Given the description of an element on the screen output the (x, y) to click on. 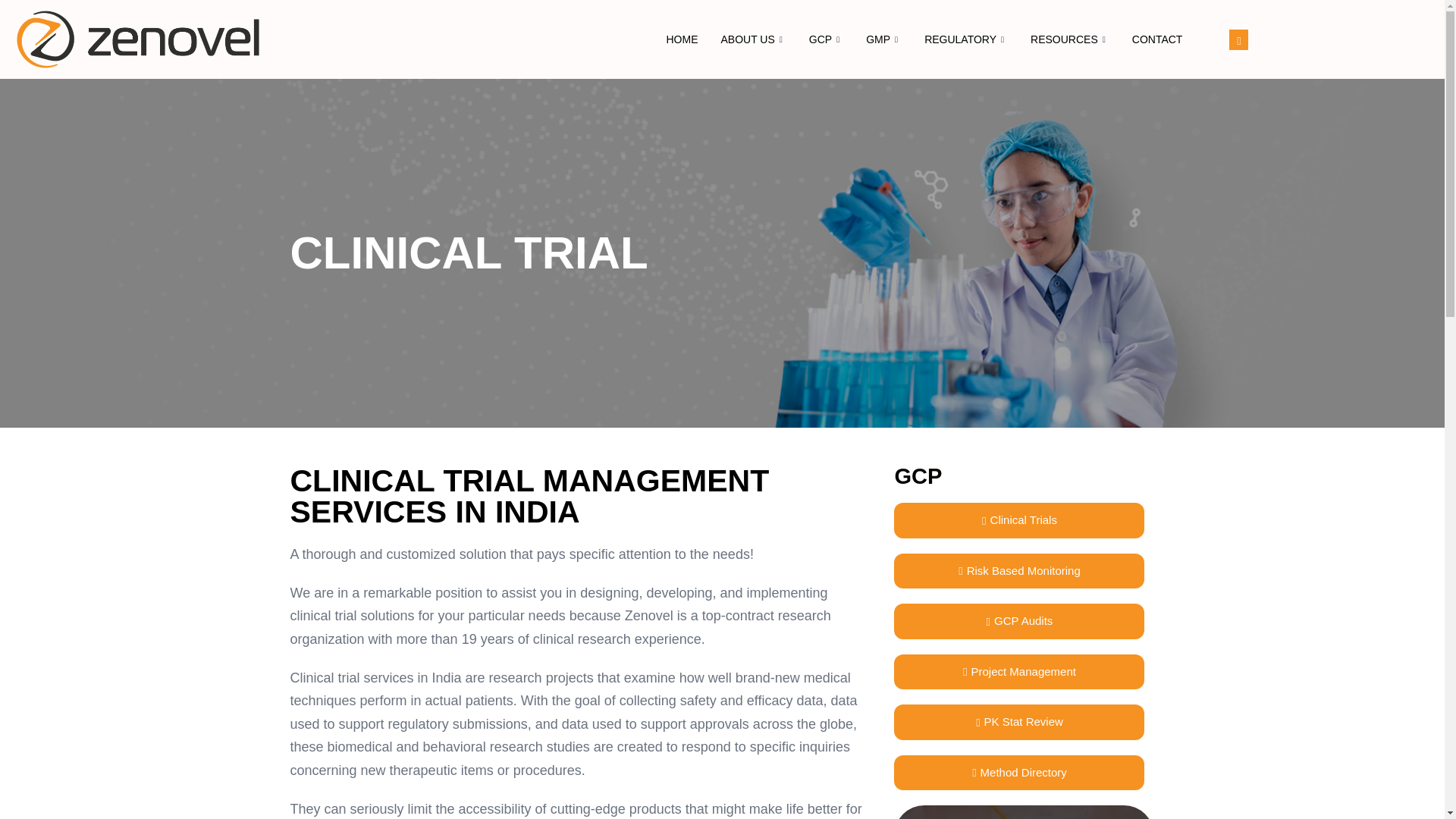
HOME (681, 39)
ABOUT US (752, 39)
RESOURCES (1070, 39)
CONTACT (1157, 39)
GCP (825, 39)
GMP (883, 39)
REGULATORY (965, 39)
